Given the description of an element on the screen output the (x, y) to click on. 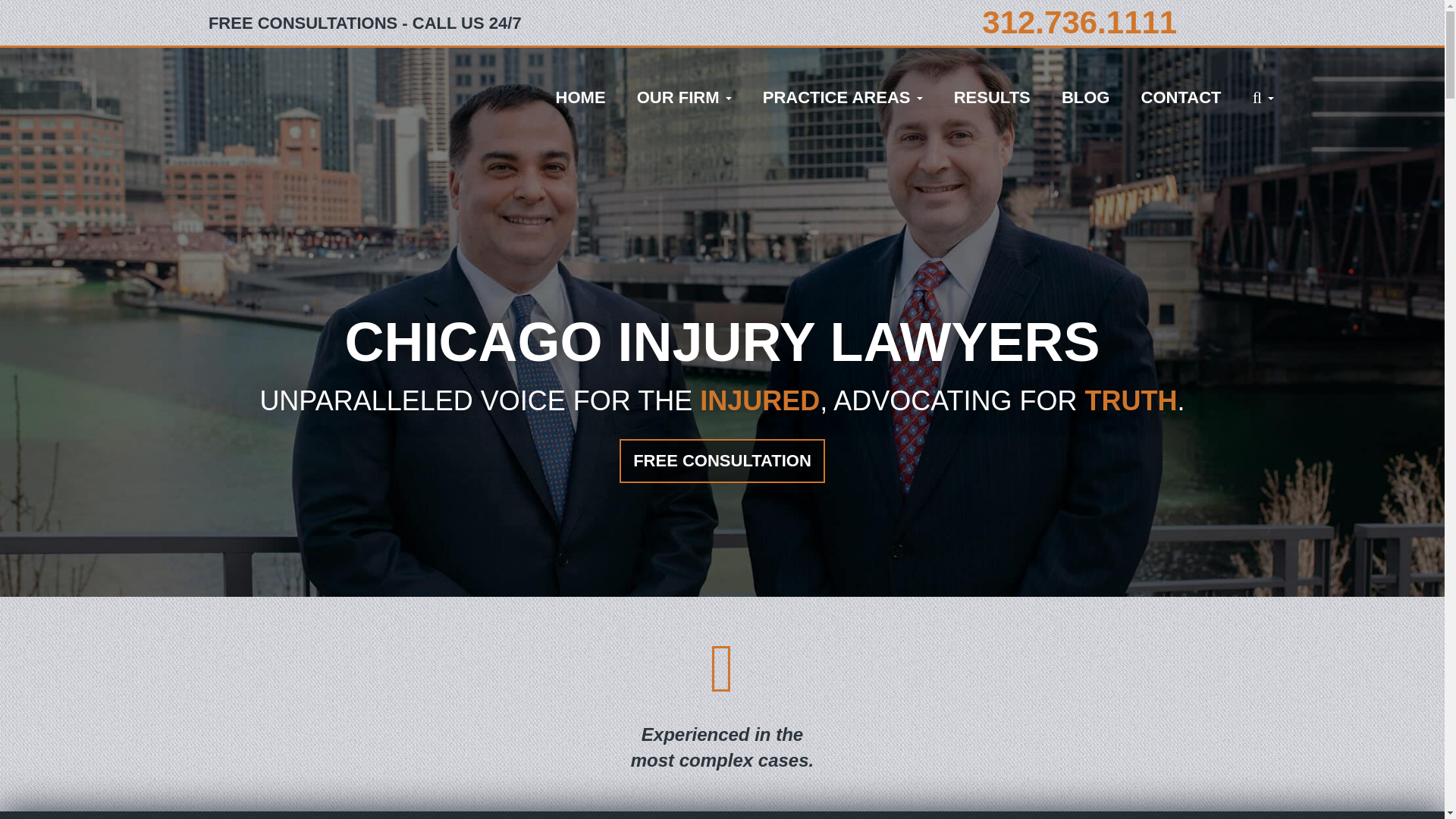
FREE CONSULTATION (722, 460)
312.736.1111 (1078, 22)
BLOG (1086, 96)
CONTACT (1181, 96)
HOME (580, 96)
RESULTS (992, 96)
PRACTICE AREAS (842, 96)
OUR FIRM (683, 96)
